Given the description of an element on the screen output the (x, y) to click on. 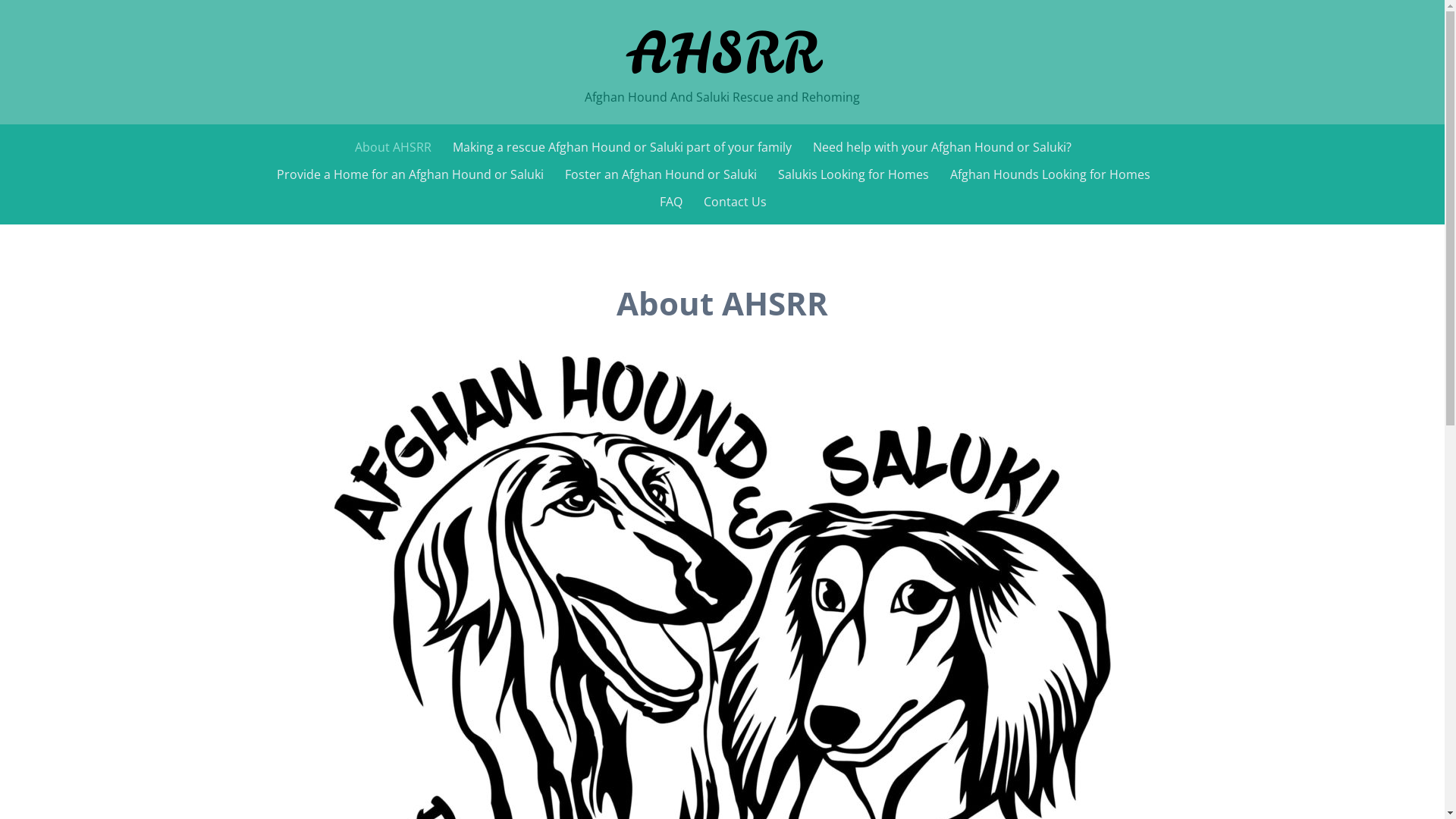
Salukis Looking for Homes Element type: text (853, 174)
Contact Us Element type: text (734, 201)
Afghan Hounds Looking for Homes Element type: text (1049, 174)
FAQ Element type: text (670, 201)
About AHSRR Element type: text (392, 146)
Provide a Home for an Afghan Hound or Saluki Element type: text (409, 174)
Search Element type: text (24, 13)
Need help with your Afghan Hound or Saluki? Element type: text (941, 146)
AHSRR Element type: text (721, 52)
Making a rescue Afghan Hound or Saluki part of your family Element type: text (621, 146)
Foster an Afghan Hound or Saluki Element type: text (660, 174)
